Given the description of an element on the screen output the (x, y) to click on. 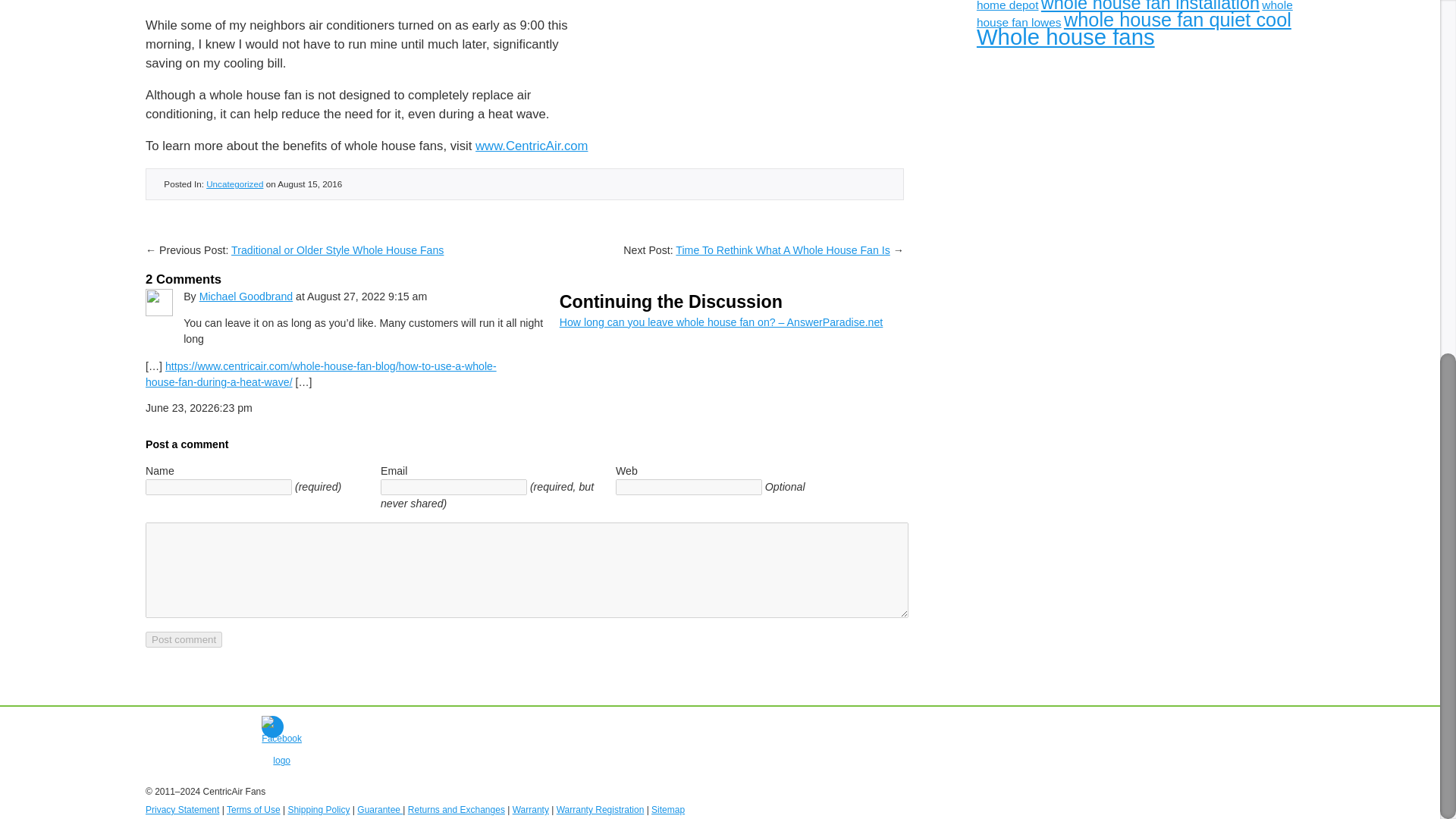
Time To Rethink What A Whole House Fan Is (782, 250)
www.CentricAir.com (532, 145)
Traditional or Older Style Whole House Fans (337, 250)
Post comment (183, 639)
Post comment (183, 639)
Michael Goodbrand (246, 296)
Uncategorized (234, 184)
